Given the description of an element on the screen output the (x, y) to click on. 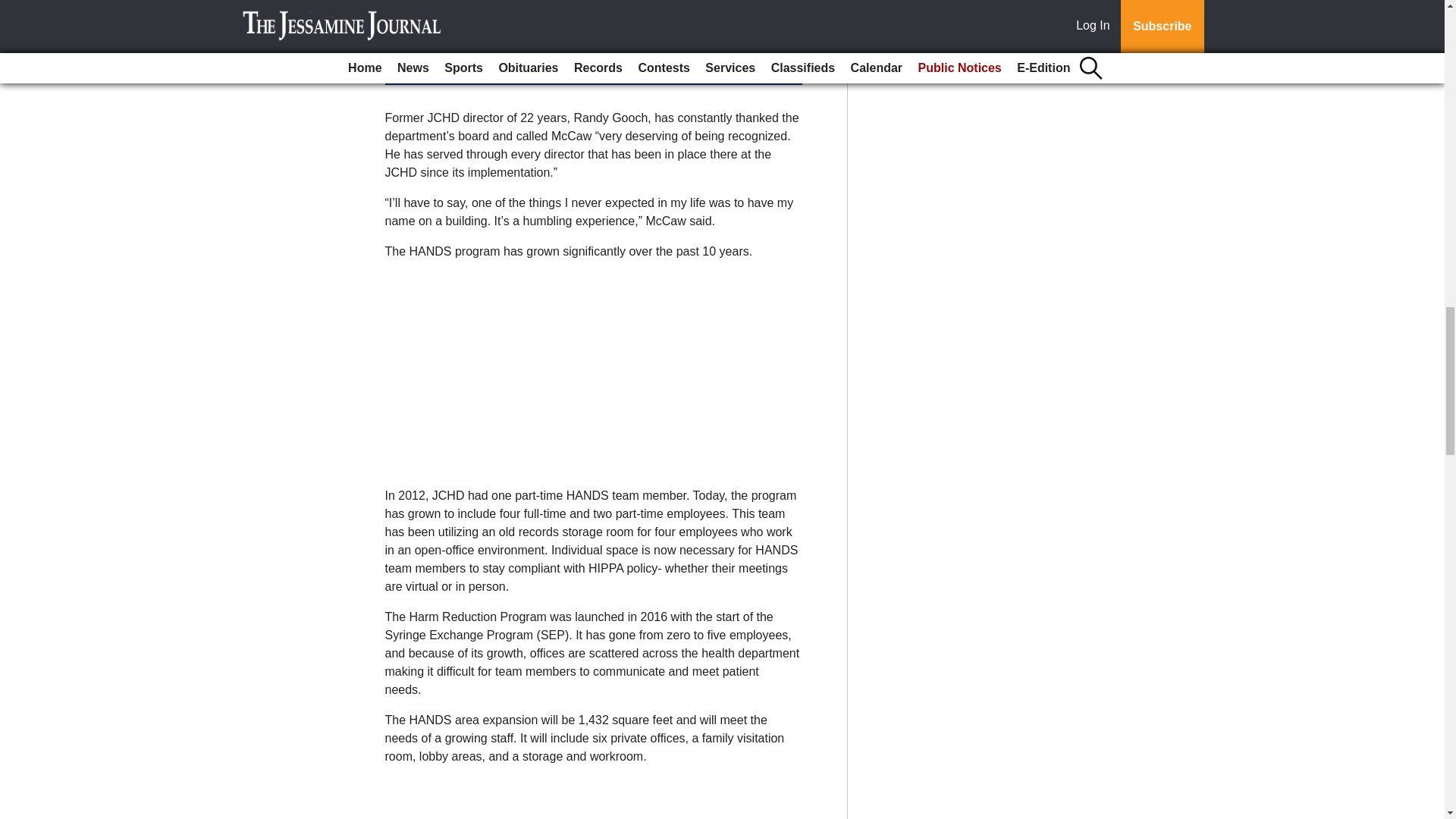
Subscribe (434, 67)
Subscribe (434, 67)
